Given the description of an element on the screen output the (x, y) to click on. 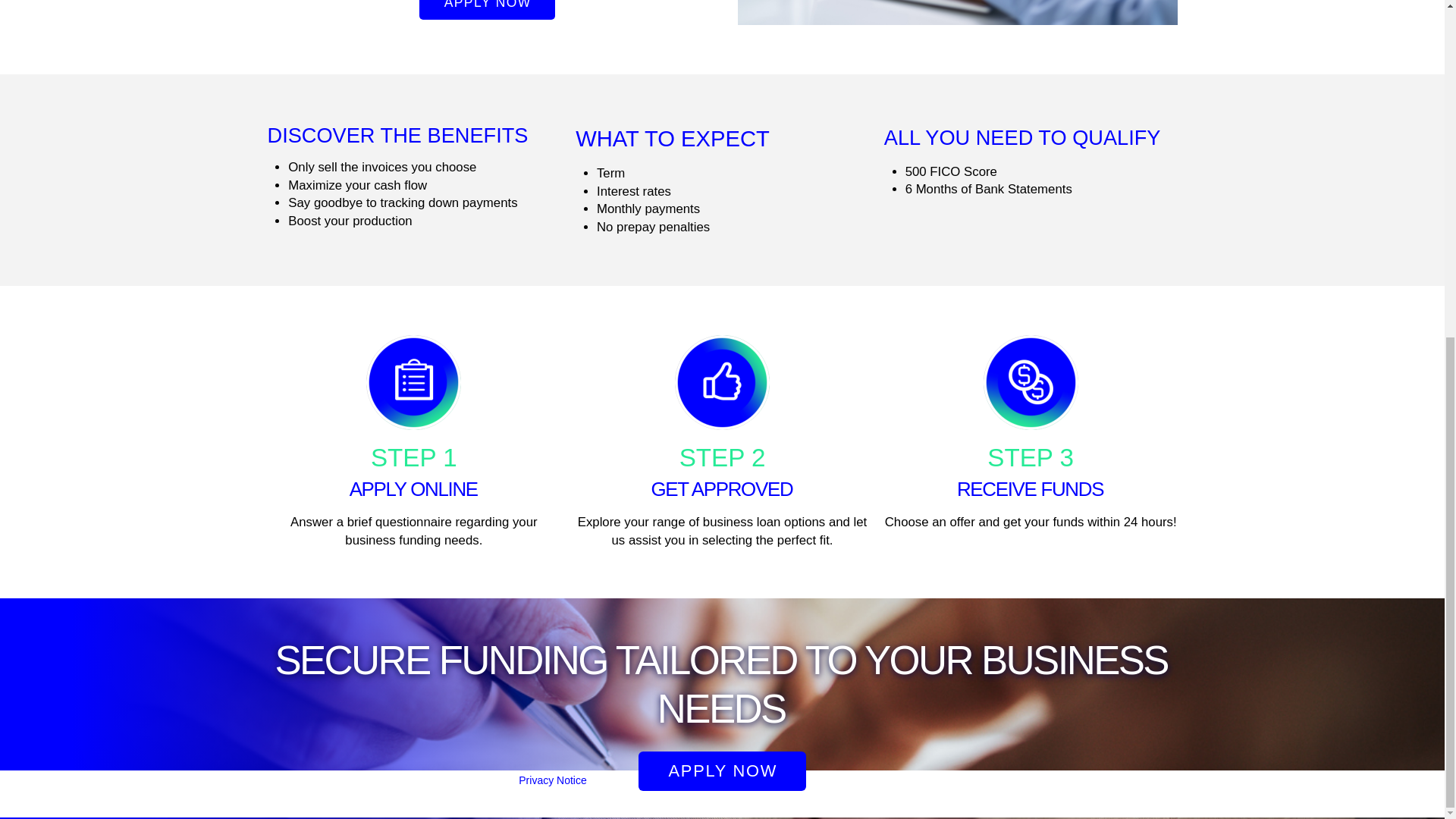
Privacy Notice (552, 779)
APPLY NOW (487, 9)
APPLY NOW (722, 771)
